Given the description of an element on the screen output the (x, y) to click on. 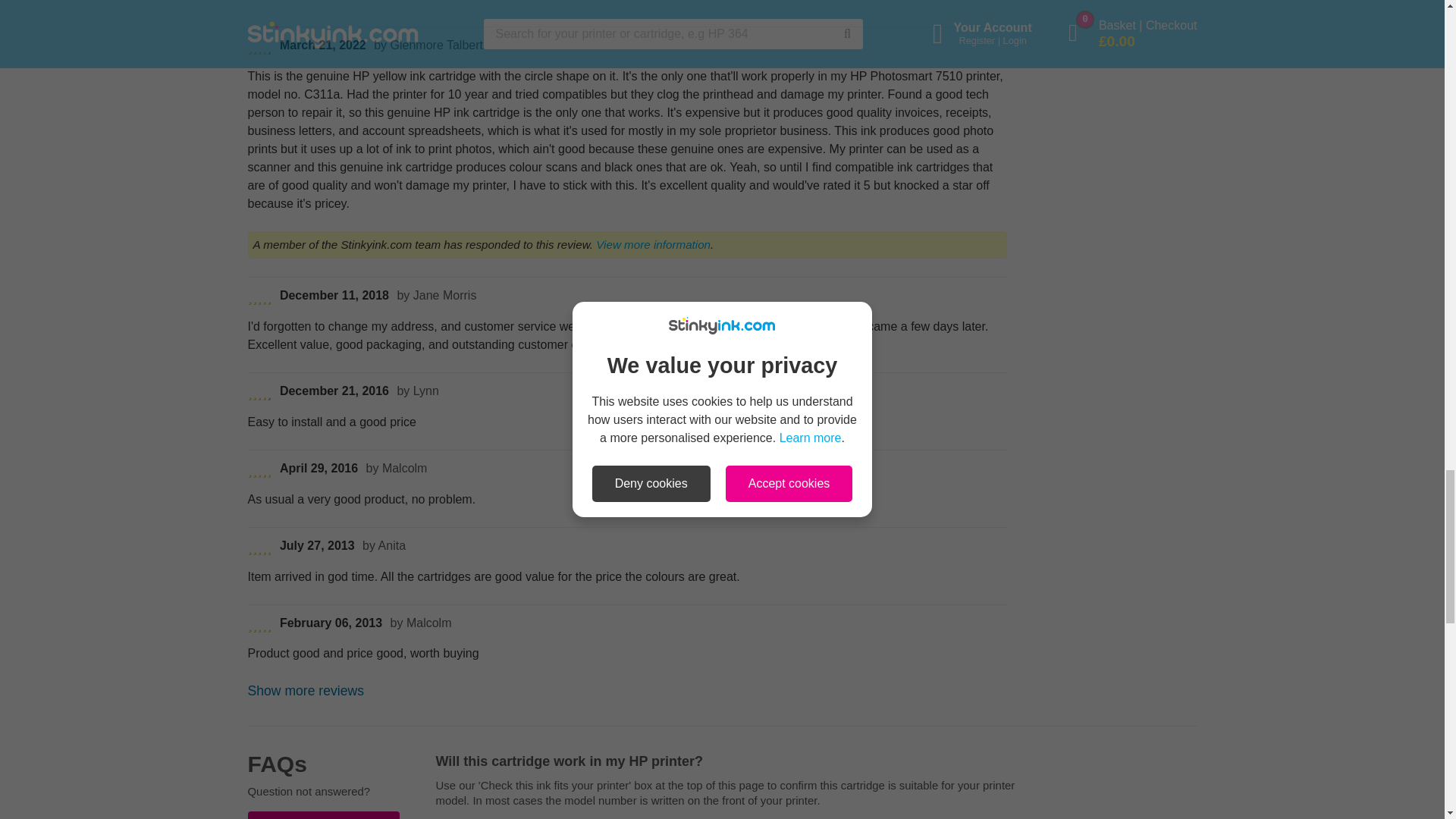
5 out of 5 (258, 470)
5 out of 5 (258, 625)
5 out of 5 (258, 547)
4 out of 5 (258, 47)
5 out of 5 (258, 297)
4 out of 5 (258, 393)
